Given the description of an element on the screen output the (x, y) to click on. 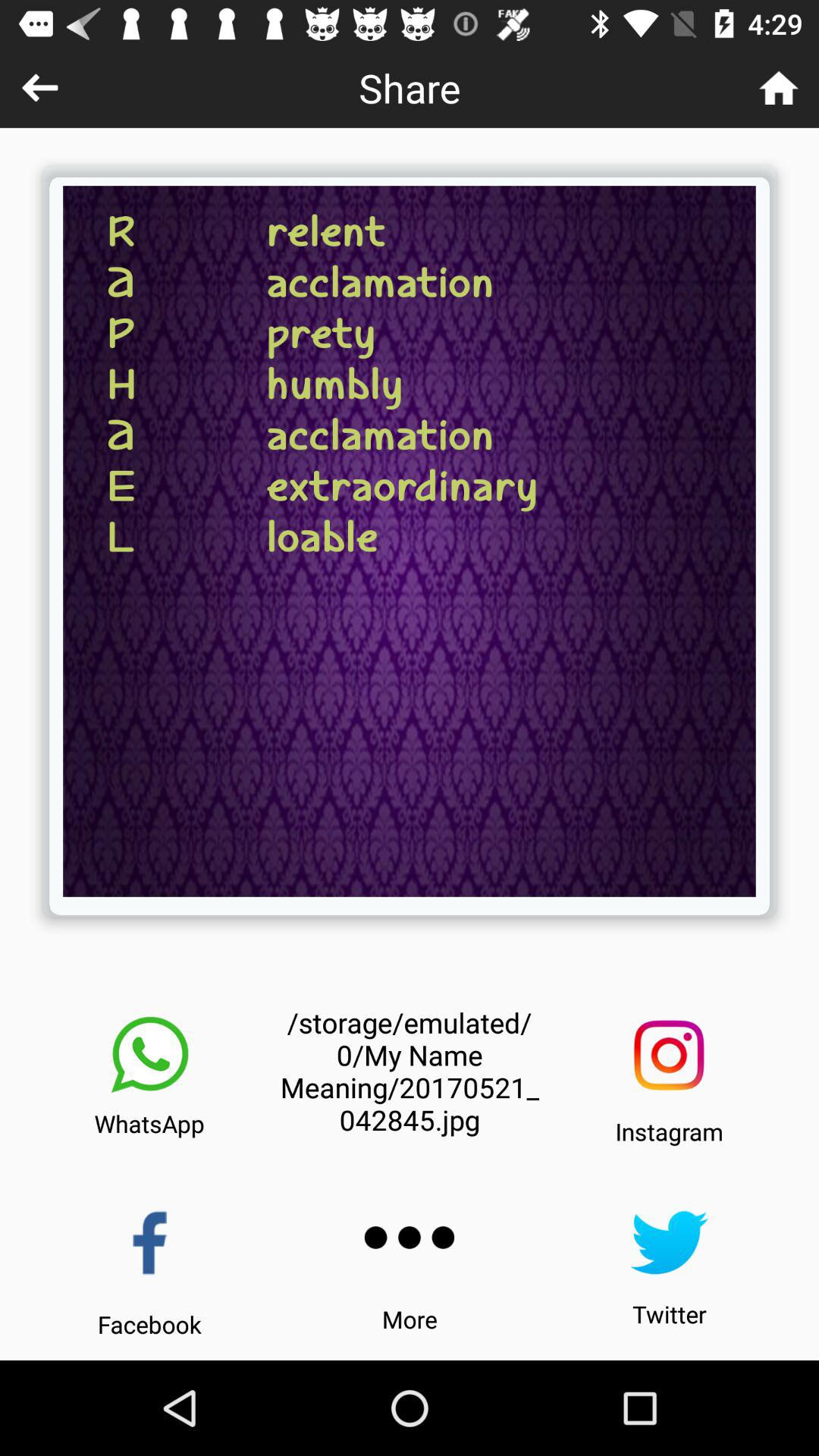
share to instagram (668, 1055)
